Given the description of an element on the screen output the (x, y) to click on. 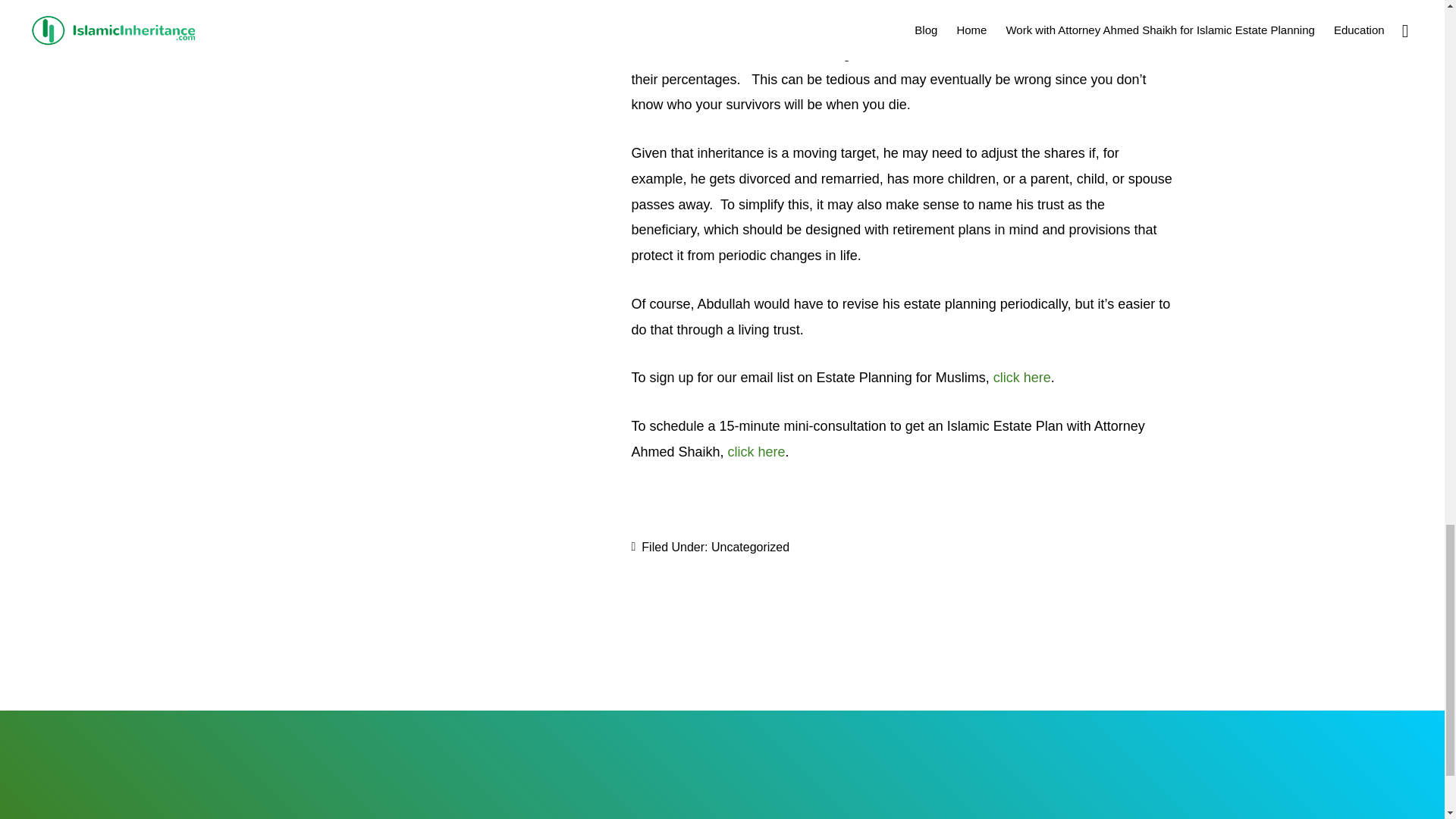
Islamic Rules of Inheritance (888, 18)
click here (1021, 377)
Uncategorized (750, 546)
click here (757, 451)
